Given the description of an element on the screen output the (x, y) to click on. 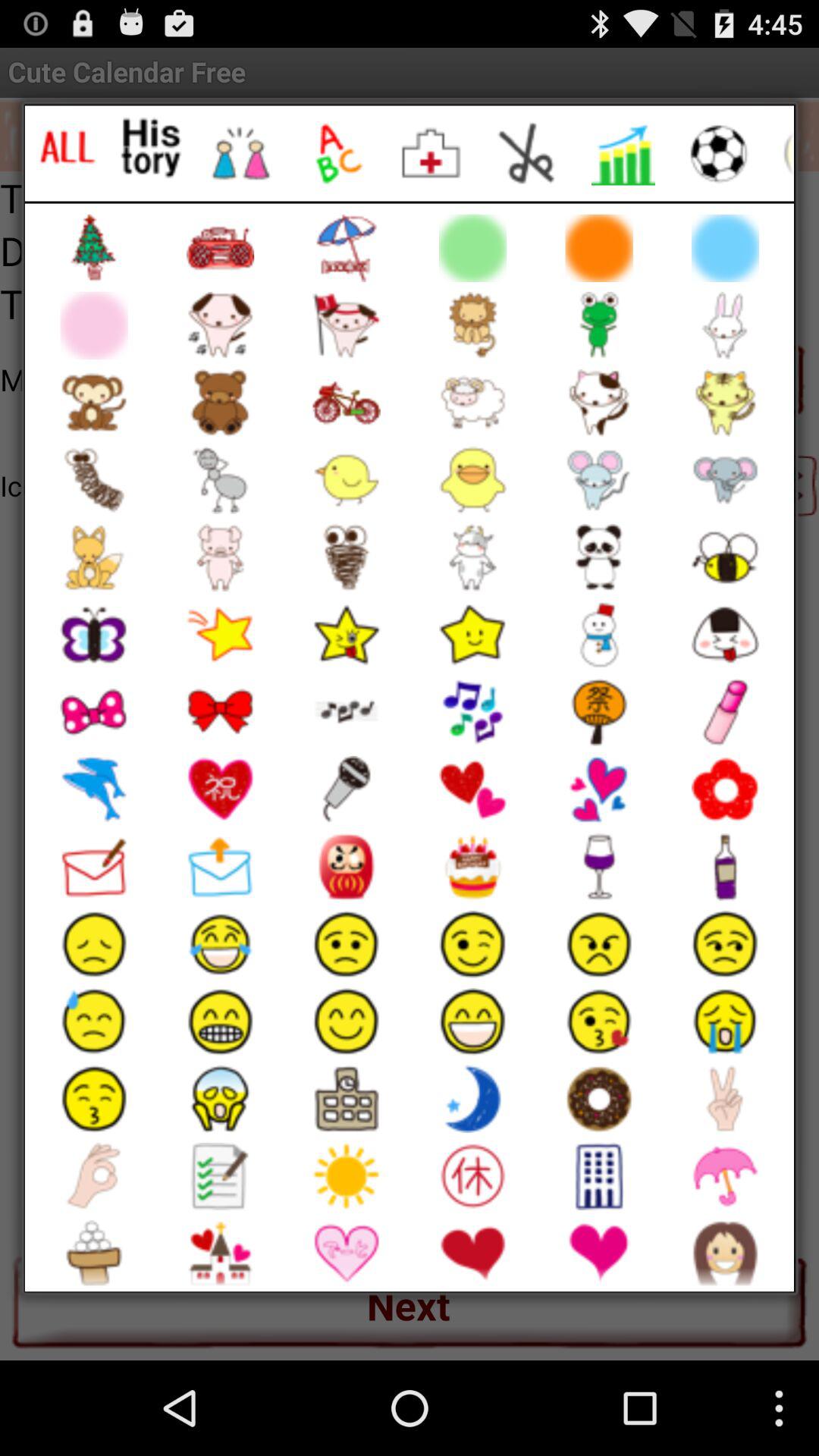
sports emojis (718, 153)
